Given the description of an element on the screen output the (x, y) to click on. 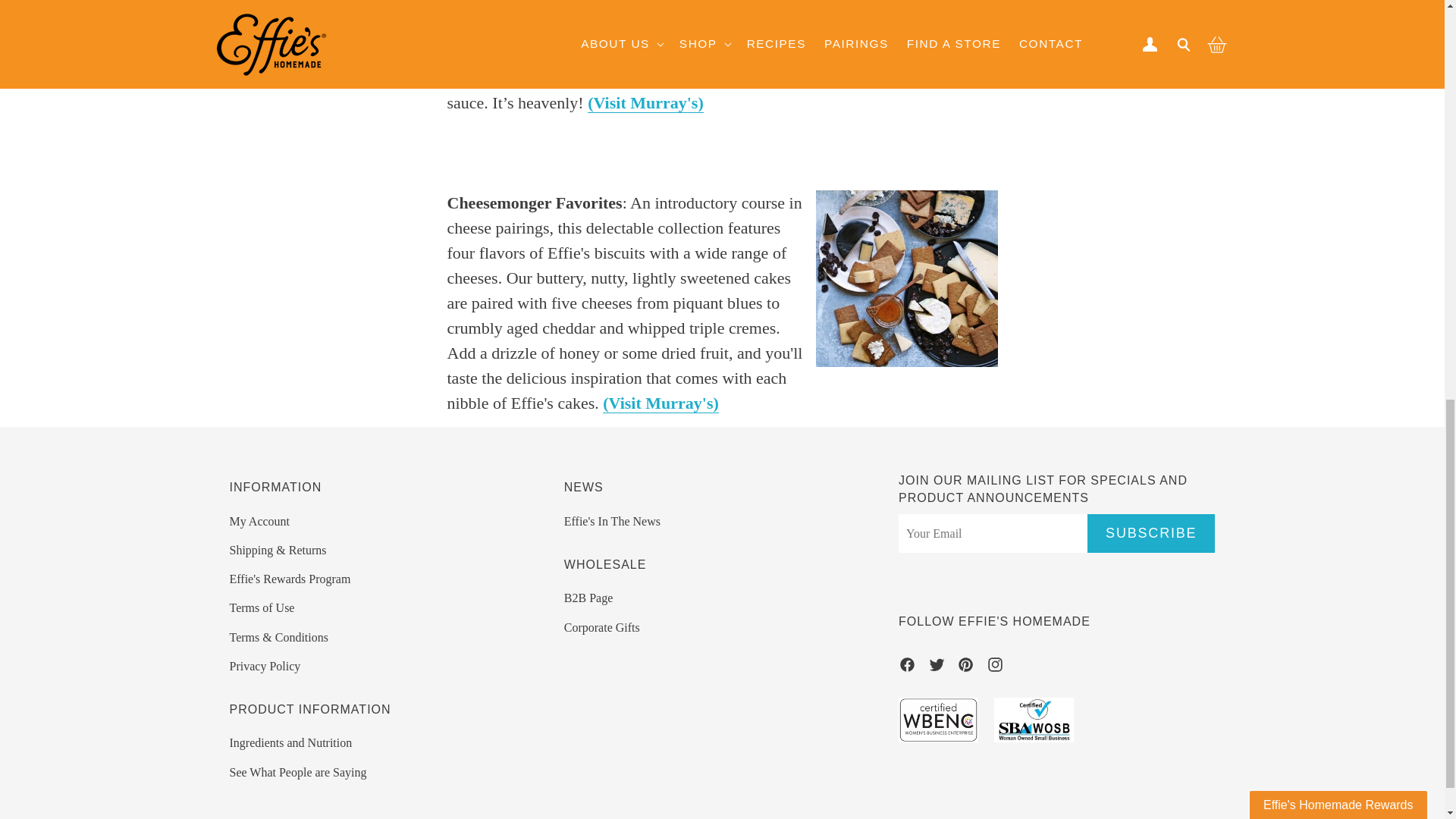
Facebook (906, 667)
Goat Lover's Delight Gift Pack at Murray's Cheese (645, 103)
Cheesemonger Favorites at Murray's Cheese (660, 403)
Twitter (936, 667)
Pinterest (965, 667)
Instagram (995, 667)
